Given the description of an element on the screen output the (x, y) to click on. 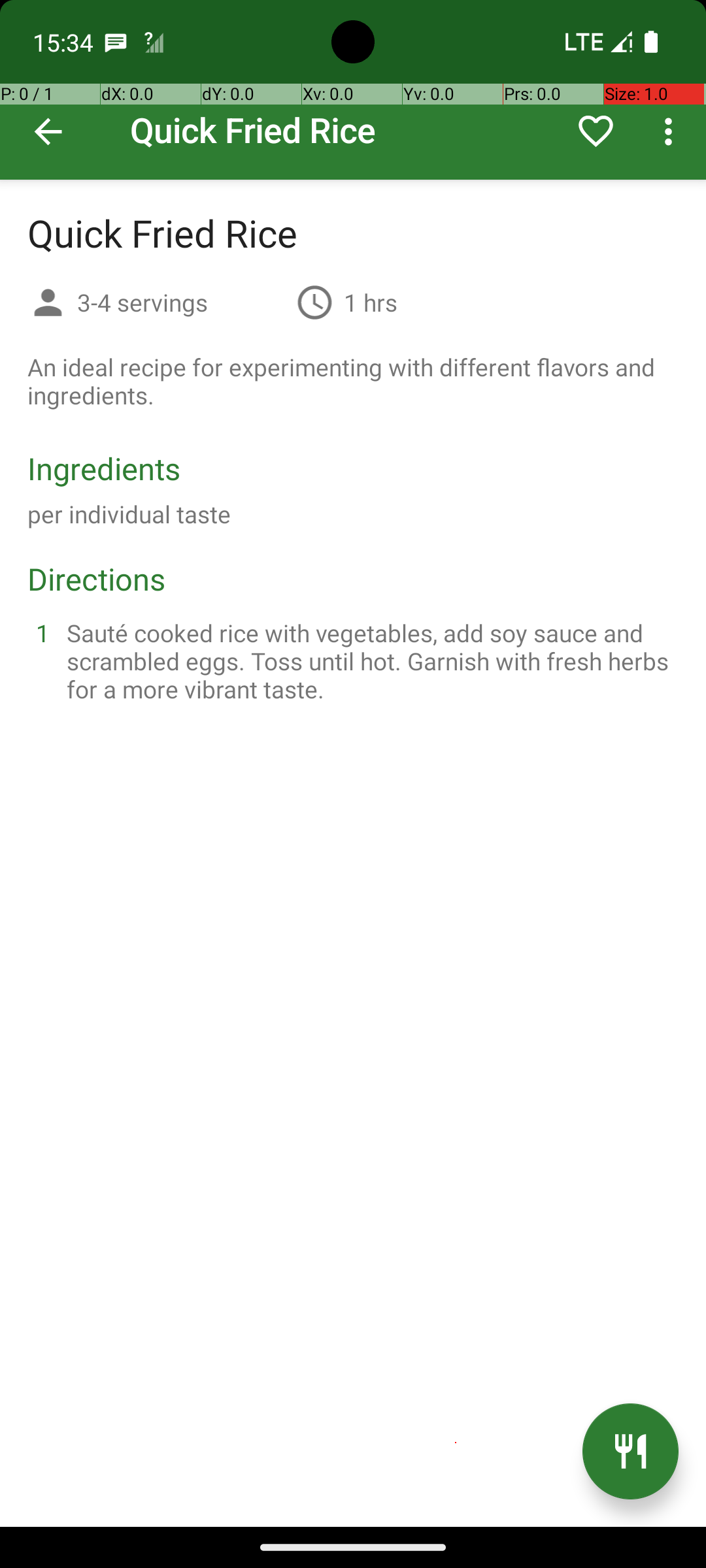
Sauté cooked rice with vegetables, add soy sauce and scrambled eggs. Toss until hot. Garnish with fresh herbs for a more vibrant taste. Element type: android.widget.TextView (368, 660)
